Given the description of an element on the screen output the (x, y) to click on. 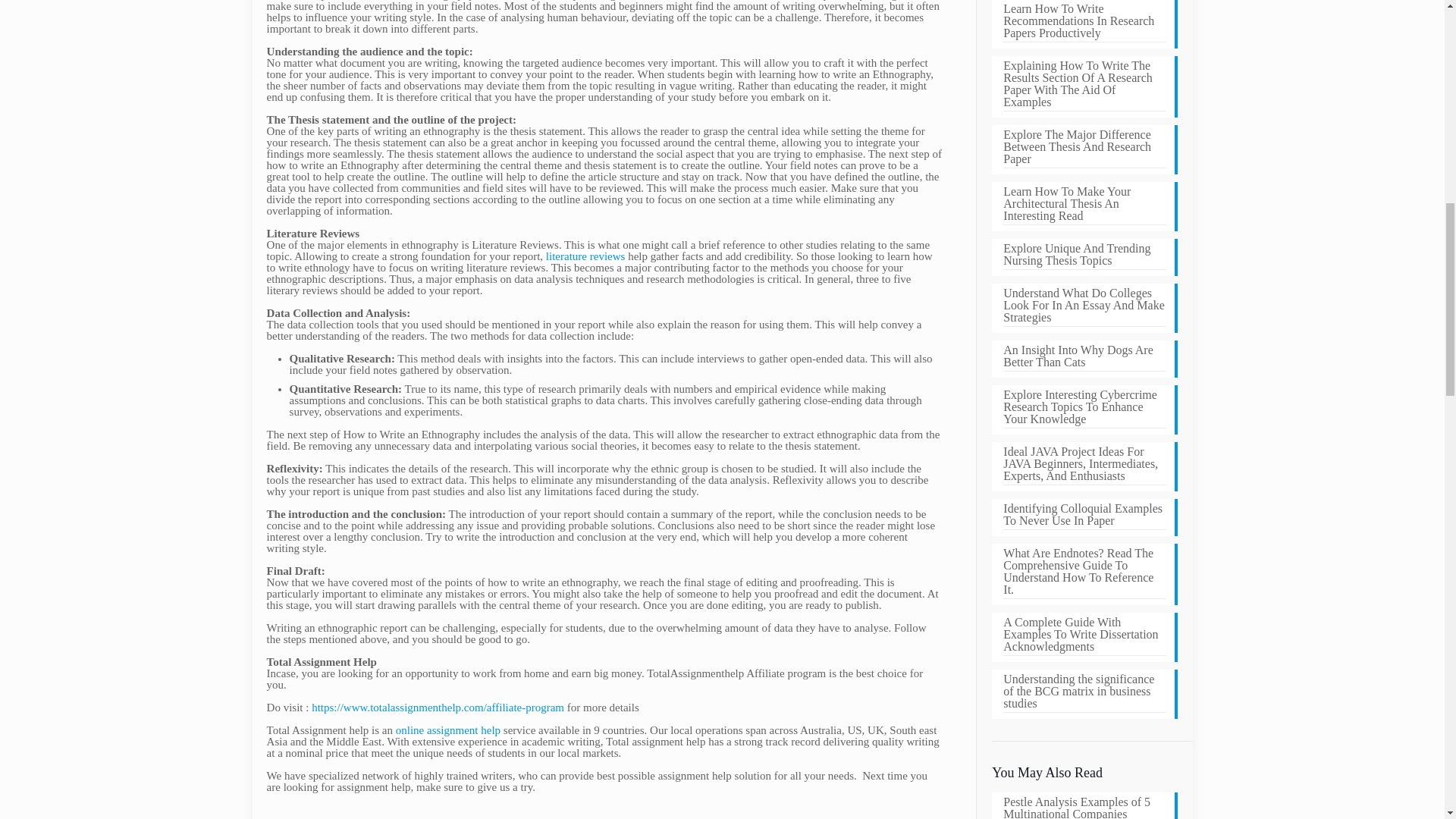
literature reviews (586, 256)
online assignment help (448, 729)
